Given the description of an element on the screen output the (x, y) to click on. 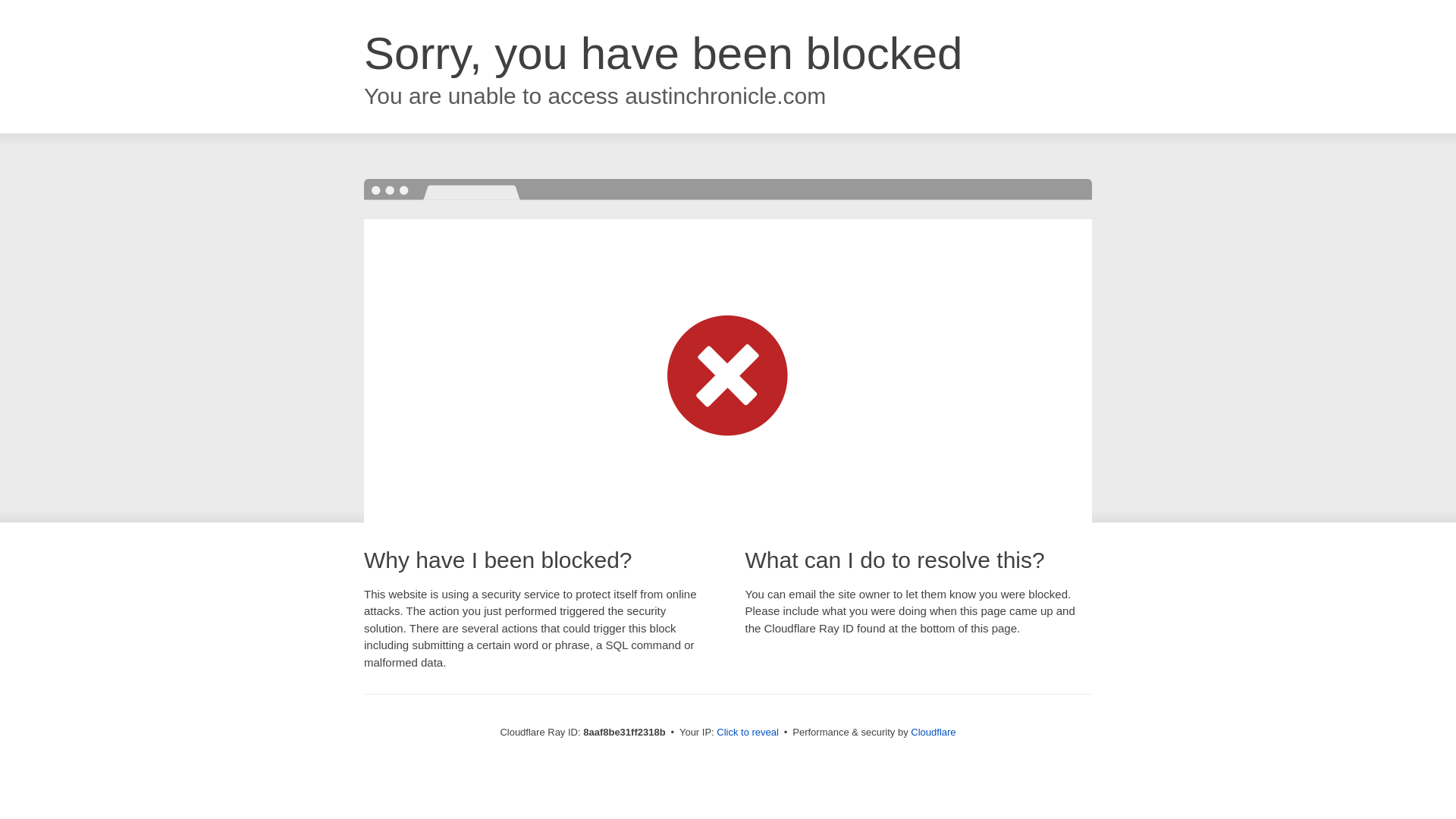
Cloudflare (933, 731)
Click to reveal (747, 732)
